Given the description of an element on the screen output the (x, y) to click on. 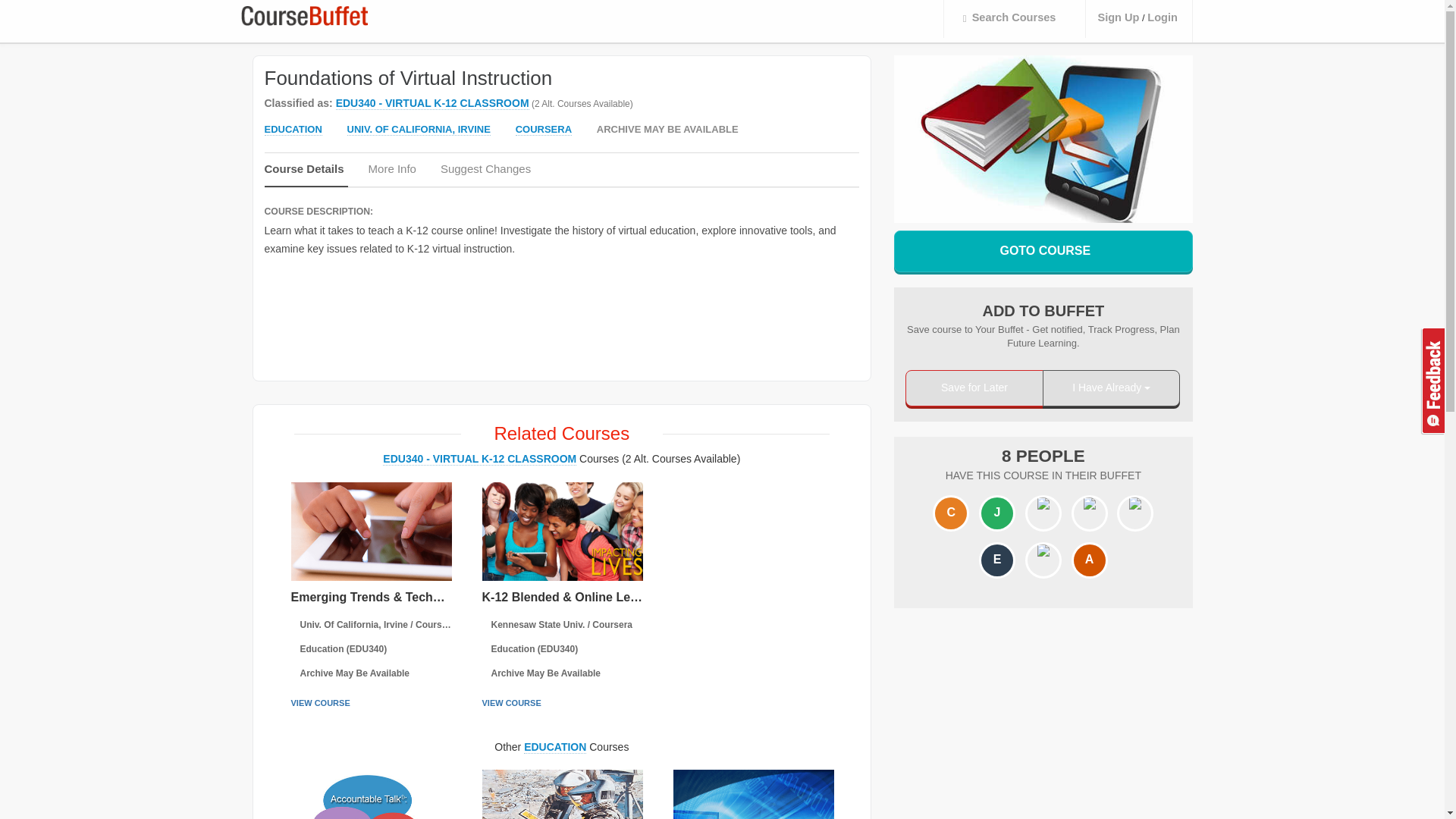
C (950, 513)
J (997, 513)
Course Details (305, 173)
Advertisement (1077, 721)
Sign Up (1117, 18)
EDUCATION (555, 746)
E (997, 560)
GOTO COURSE (1042, 250)
COURSERA (543, 129)
I Have Already (1111, 388)
Suggest Changes (487, 172)
EDU340 - VIRTUAL K-12 CLASSROOM (479, 459)
Save for Later (974, 388)
More Info (394, 172)
EDUCATION (292, 129)
